Given the description of an element on the screen output the (x, y) to click on. 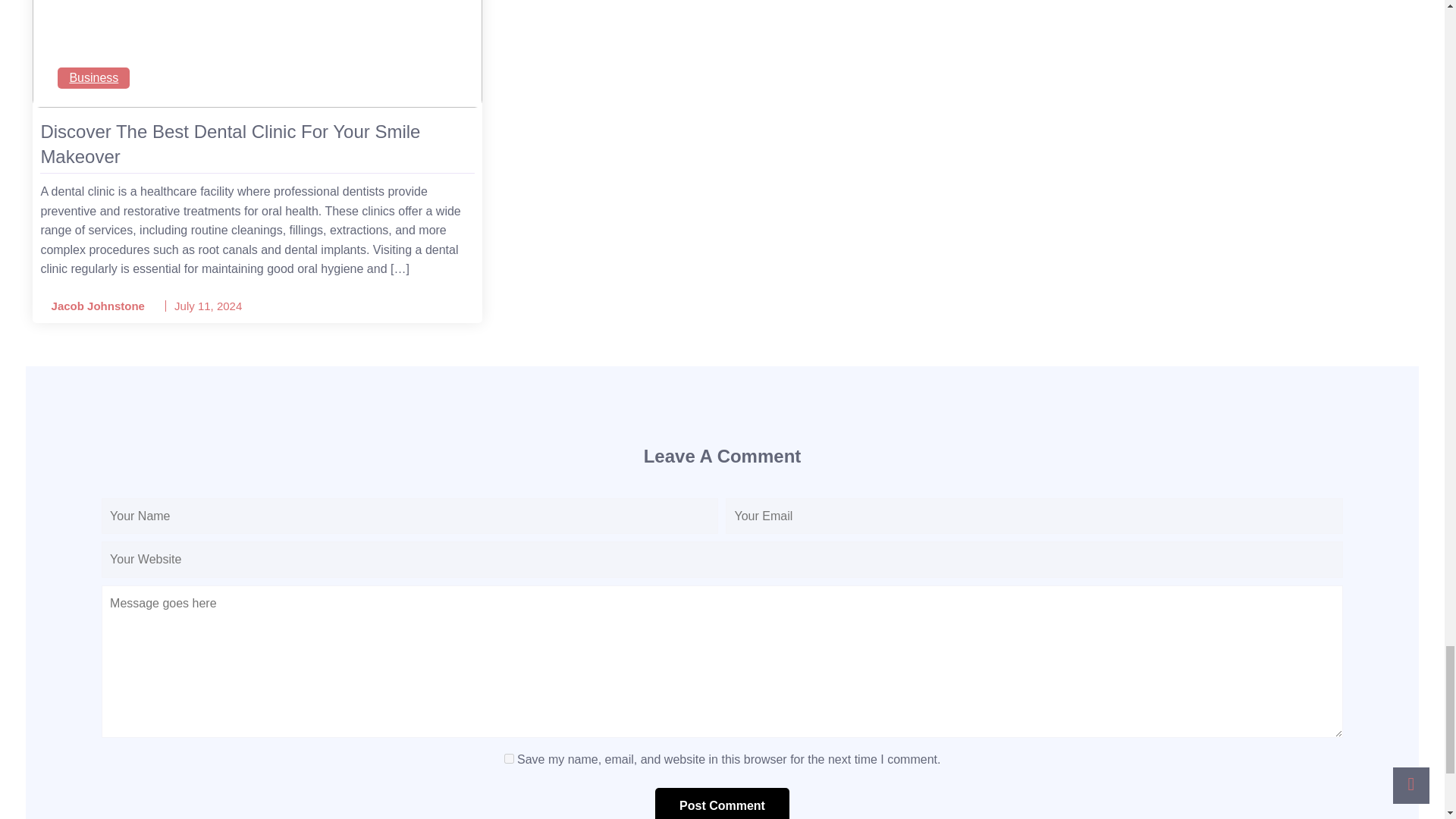
Post Comment (722, 803)
yes (508, 758)
Discover The Best Dental Clinic For Your Smile Makeover (257, 143)
Jacob Johnstone (92, 306)
Business (93, 77)
July 11, 2024 (207, 305)
